Given the description of an element on the screen output the (x, y) to click on. 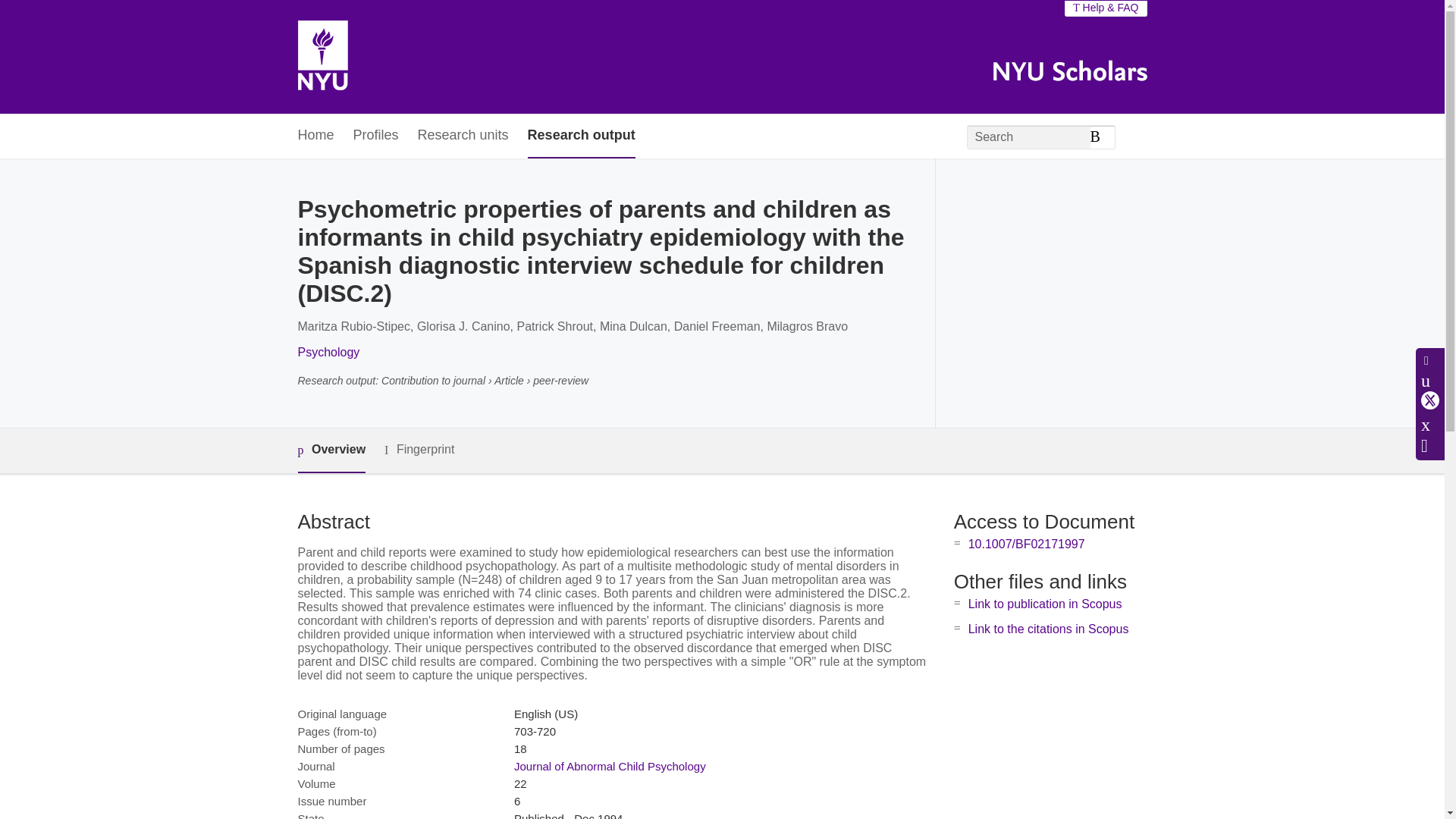
Research units (462, 135)
Overview (331, 450)
Psychology (328, 351)
Fingerprint (419, 449)
Journal of Abnormal Child Psychology (609, 766)
Link to the citations in Scopus (1048, 628)
Profiles (375, 135)
Research output (580, 135)
Link to publication in Scopus (1045, 603)
